Given the description of an element on the screen output the (x, y) to click on. 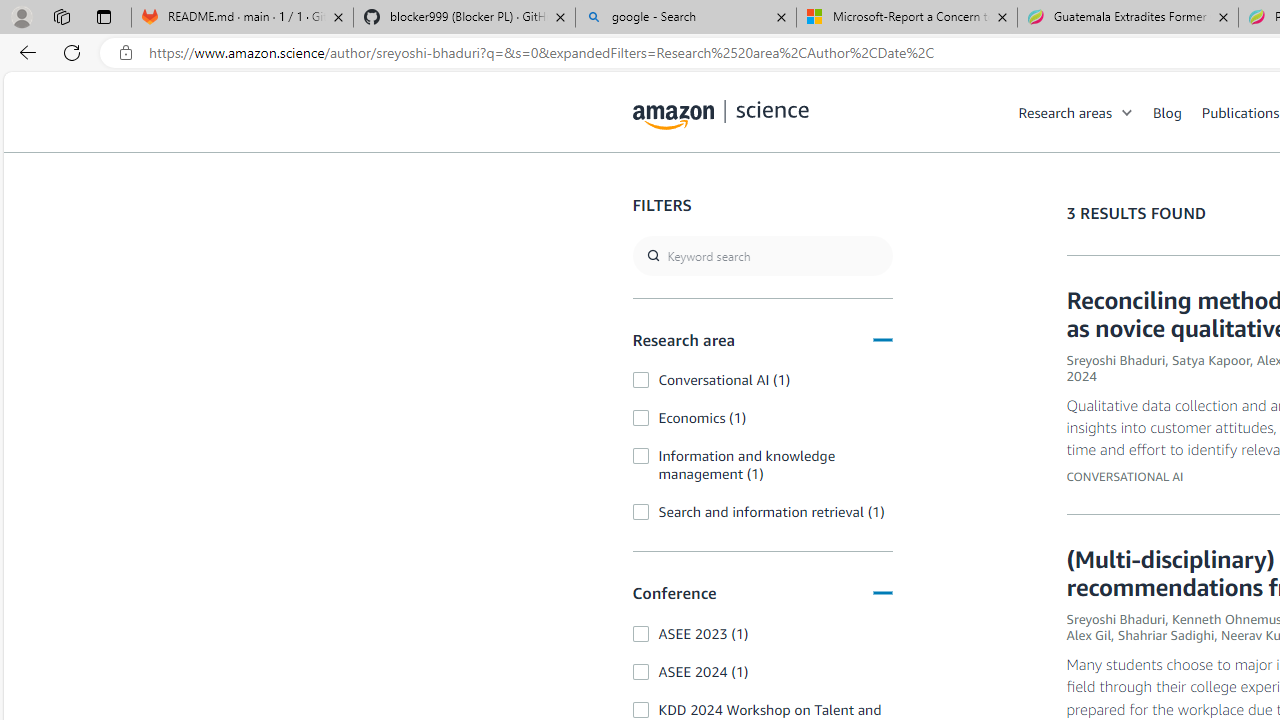
Blog (1167, 111)
Research areas (1065, 111)
Class: chevron (1128, 116)
Satya Kapoor (1210, 360)
home page (721, 110)
